Given the description of an element on the screen output the (x, y) to click on. 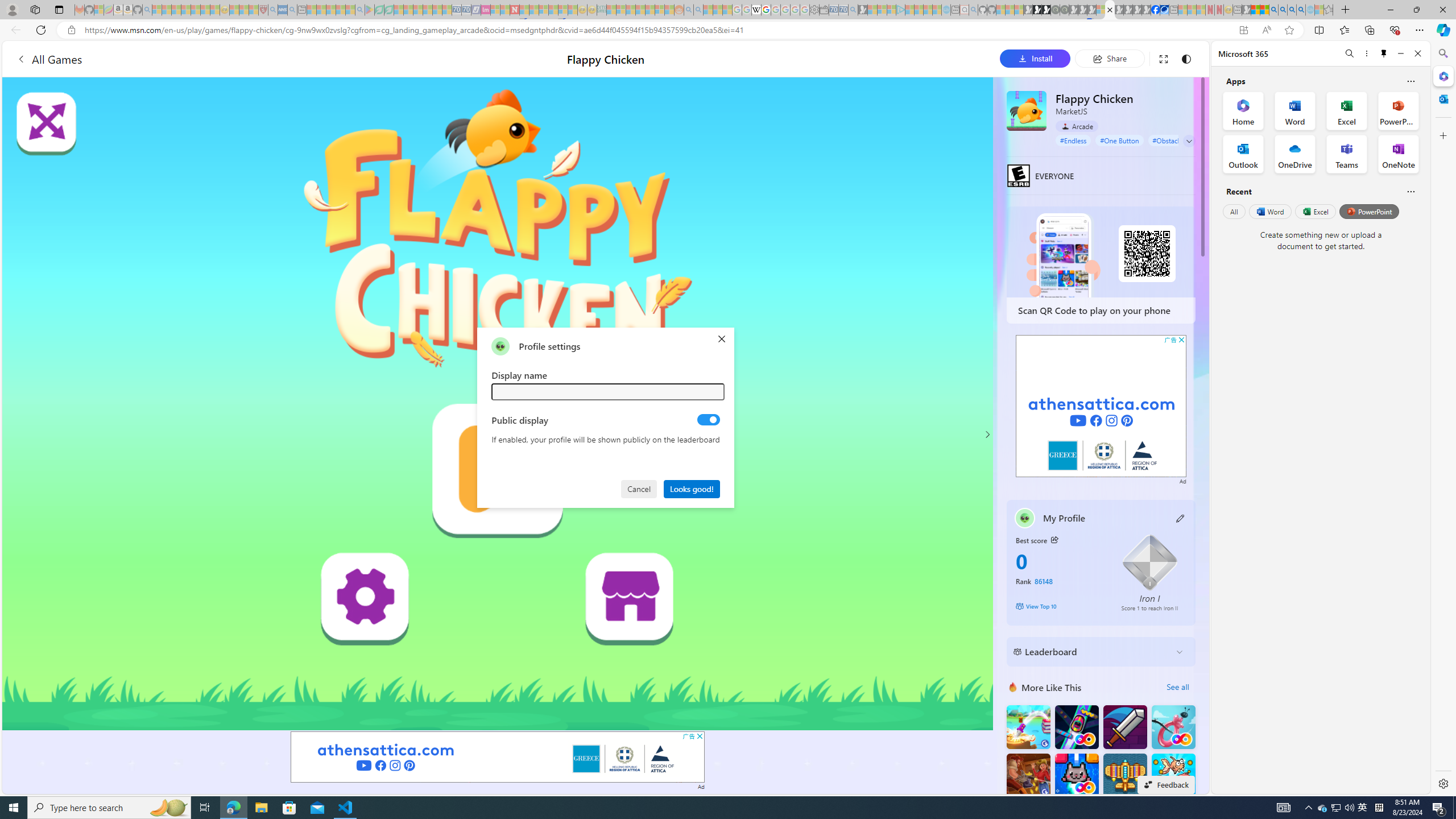
Looks good! (691, 488)
Bluey: Let's Play! - Apps on Google Play - Sleeping (369, 9)
OneDrive Office App (1295, 154)
Bing Real Estate - Home sales and rental listings - Sleeping (853, 9)
